Given the description of an element on the screen output the (x, y) to click on. 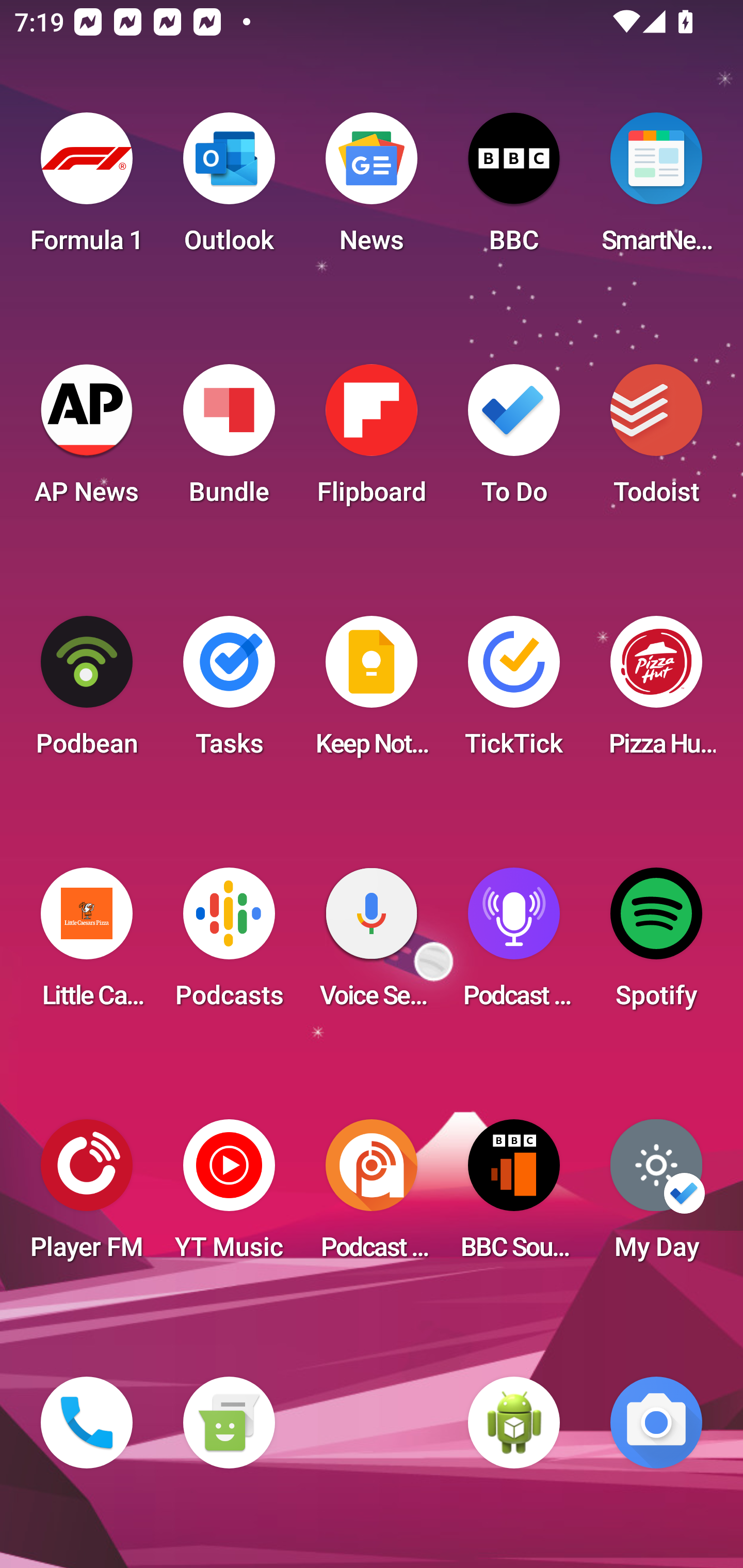
Formula 1 (86, 188)
Outlook (228, 188)
News (371, 188)
BBC (513, 188)
SmartNews (656, 188)
AP News (86, 440)
Bundle (228, 440)
Flipboard (371, 440)
To Do (513, 440)
Todoist (656, 440)
Podbean (86, 692)
Tasks (228, 692)
Keep Notes (371, 692)
TickTick (513, 692)
Pizza Hut HK & Macau (656, 692)
Little Caesars Pizza (86, 943)
Podcasts (228, 943)
Voice Search (371, 943)
Podcast Player (513, 943)
Spotify (656, 943)
Player FM (86, 1195)
YT Music (228, 1195)
Podcast Addict (371, 1195)
BBC Sounds (513, 1195)
My Day (656, 1195)
Phone (86, 1422)
Messaging (228, 1422)
WebView Browser Tester (513, 1422)
Camera (656, 1422)
